Given the description of an element on the screen output the (x, y) to click on. 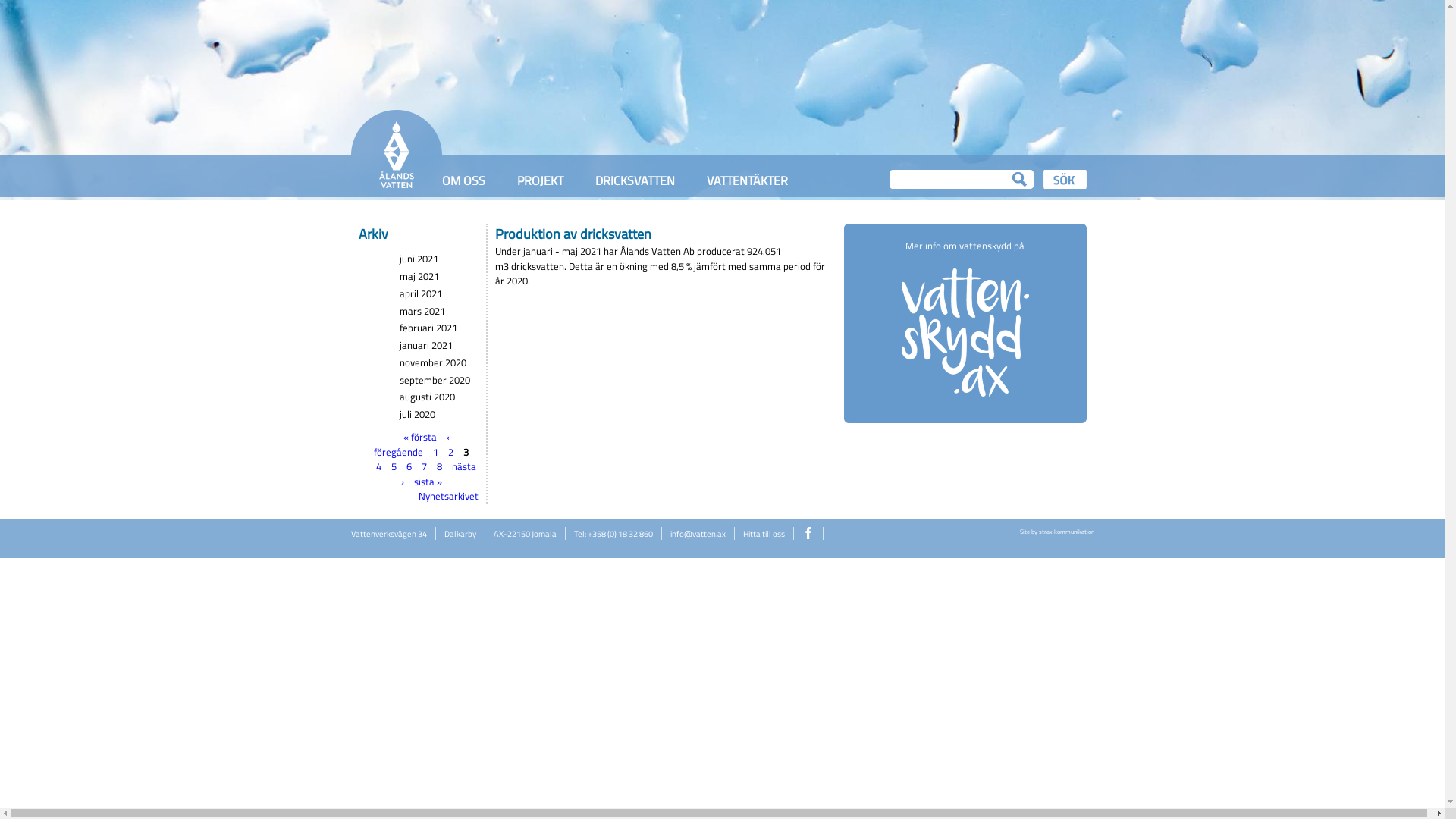
info@vatten.ax Element type: text (697, 533)
april 2021 Element type: text (420, 293)
7 Element type: text (423, 465)
5 Element type: text (393, 465)
augusti 2020 Element type: text (427, 396)
september 2020 Element type: text (434, 379)
Facebook Element type: text (808, 533)
Hitta till oss Element type: text (763, 533)
DRICKSVATTEN Element type: text (634, 176)
januari 2021 Element type: text (425, 344)
juni 2021 Element type: text (418, 258)
Nyhetsarkivet Element type: text (448, 495)
maj 2021 Element type: text (419, 275)
Hemsida Element type: hover (395, 188)
juli 2020 Element type: text (417, 413)
november 2020 Element type: text (432, 362)
4 Element type: text (378, 465)
mars 2021 Element type: text (422, 310)
PROJEKT Element type: text (540, 176)
OM OSS Element type: text (462, 176)
8 Element type: text (439, 465)
strax kommunikation Element type: text (1066, 531)
2 Element type: text (450, 450)
1 Element type: text (435, 450)
februari 2021 Element type: text (428, 327)
6 Element type: text (408, 465)
